Given the description of an element on the screen output the (x, y) to click on. 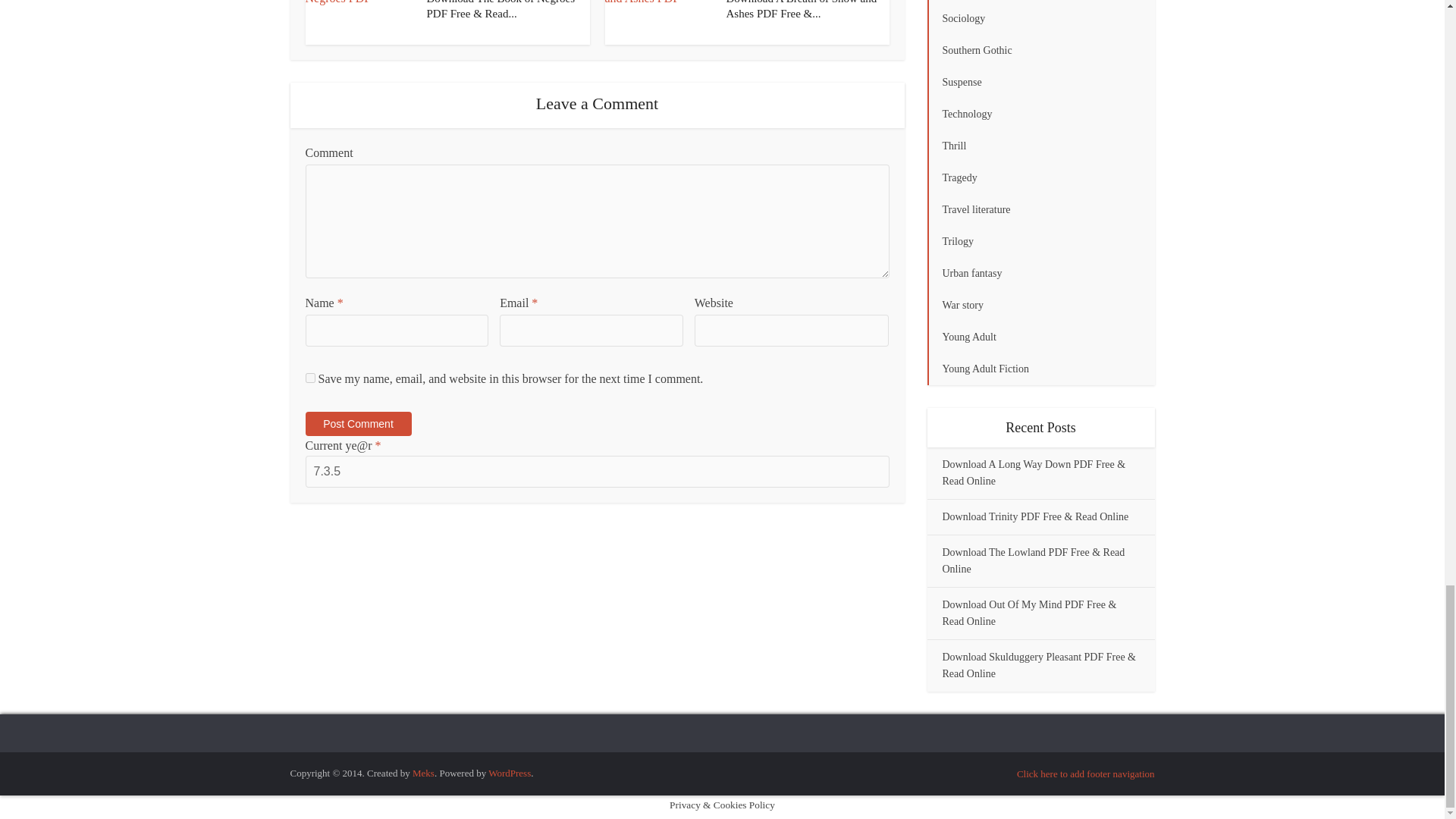
Post Comment (357, 423)
yes (309, 378)
7.3.5 (596, 471)
